Given the description of an element on the screen output the (x, y) to click on. 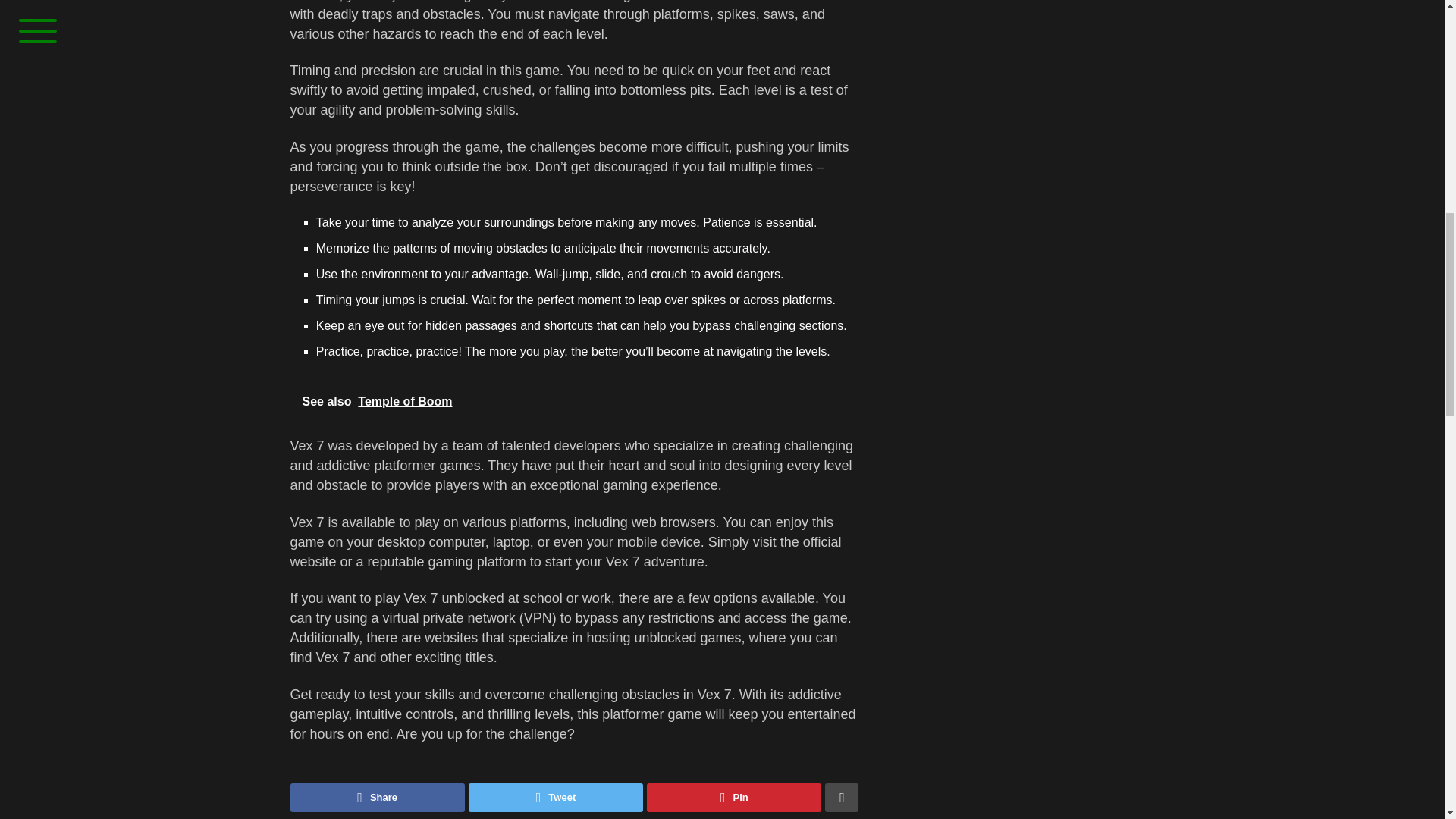
Pin (733, 797)
Share (376, 797)
Tweet (555, 797)
See also  Temple of Boom (574, 402)
